Given the description of an element on the screen output the (x, y) to click on. 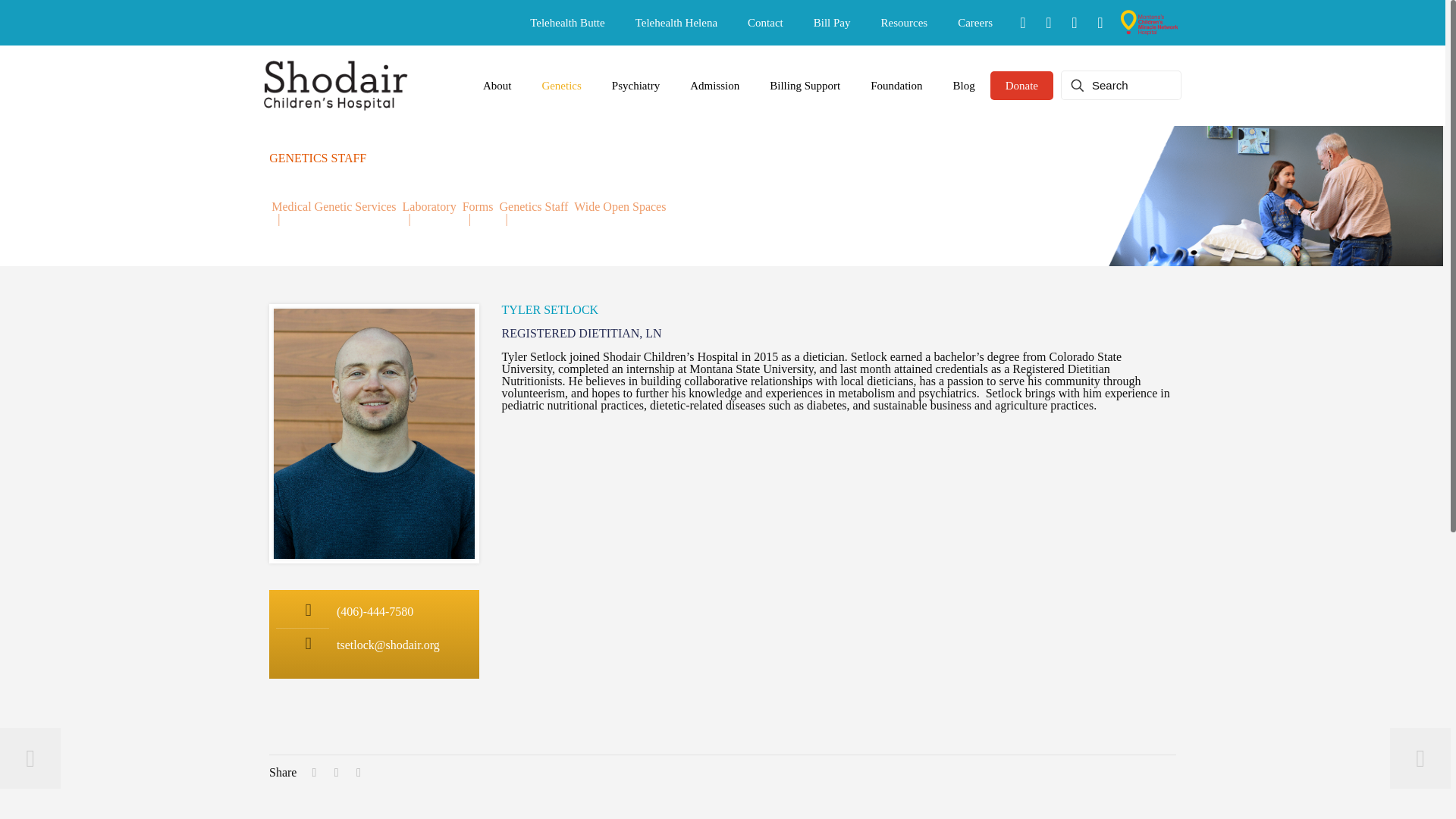
Telehealth Butte (567, 22)
Telehealth Helena (676, 22)
Bill Pay (831, 22)
Careers (974, 22)
Contact (764, 22)
Resources (904, 22)
